Given the description of an element on the screen output the (x, y) to click on. 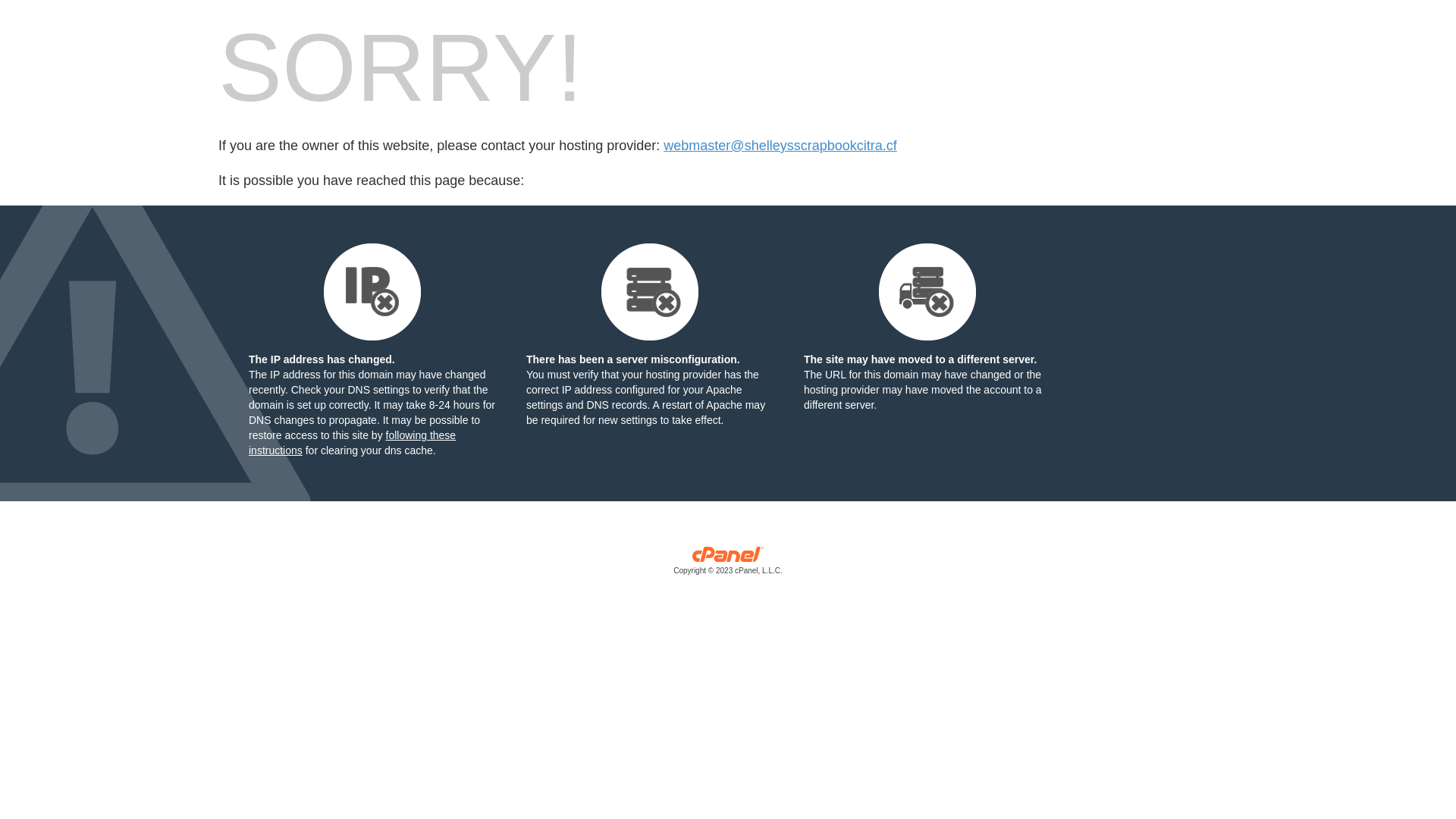
following these instructions Element type: text (351, 442)
webmaster@shelleysscrapbookcitra.cf Element type: text (779, 145)
